Given the description of an element on the screen output the (x, y) to click on. 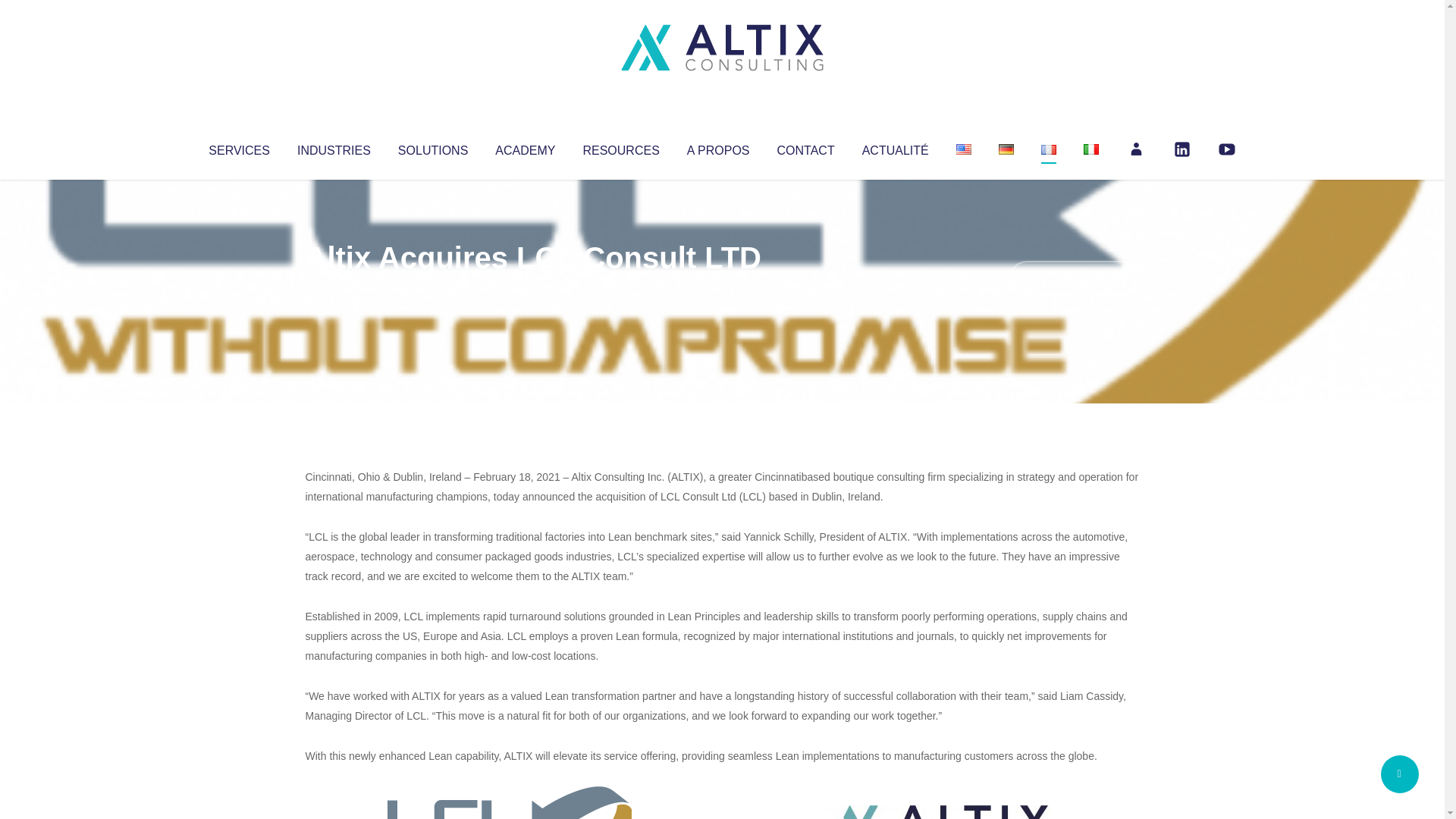
INDUSTRIES (334, 146)
RESOURCES (620, 146)
A PROPOS (718, 146)
Articles par Altix (333, 287)
SERVICES (238, 146)
Altix (333, 287)
SOLUTIONS (432, 146)
Uncategorized (530, 287)
ACADEMY (524, 146)
No Comments (1073, 278)
